Given the description of an element on the screen output the (x, y) to click on. 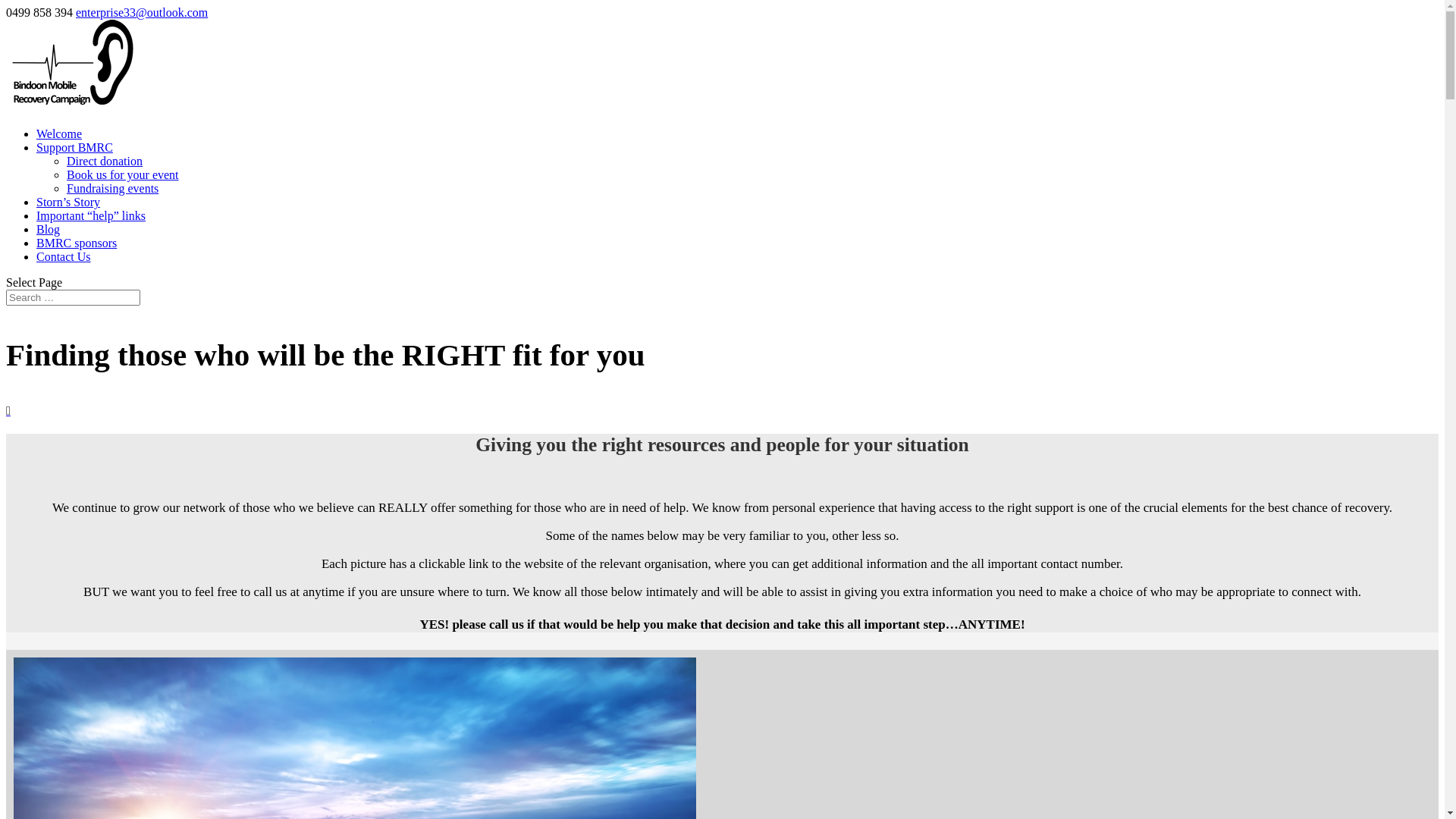
Direct donation Element type: text (104, 160)
Book us for your event Element type: text (122, 174)
enterprise33@outlook.com Element type: text (141, 12)
Welcome Element type: text (58, 133)
Support BMRC Element type: text (74, 147)
BMRC sponsors Element type: text (76, 242)
Search for: Element type: hover (73, 297)
Fundraising events Element type: text (112, 188)
Blog Element type: text (47, 228)
Contact Us Element type: text (63, 256)
